Given the description of an element on the screen output the (x, y) to click on. 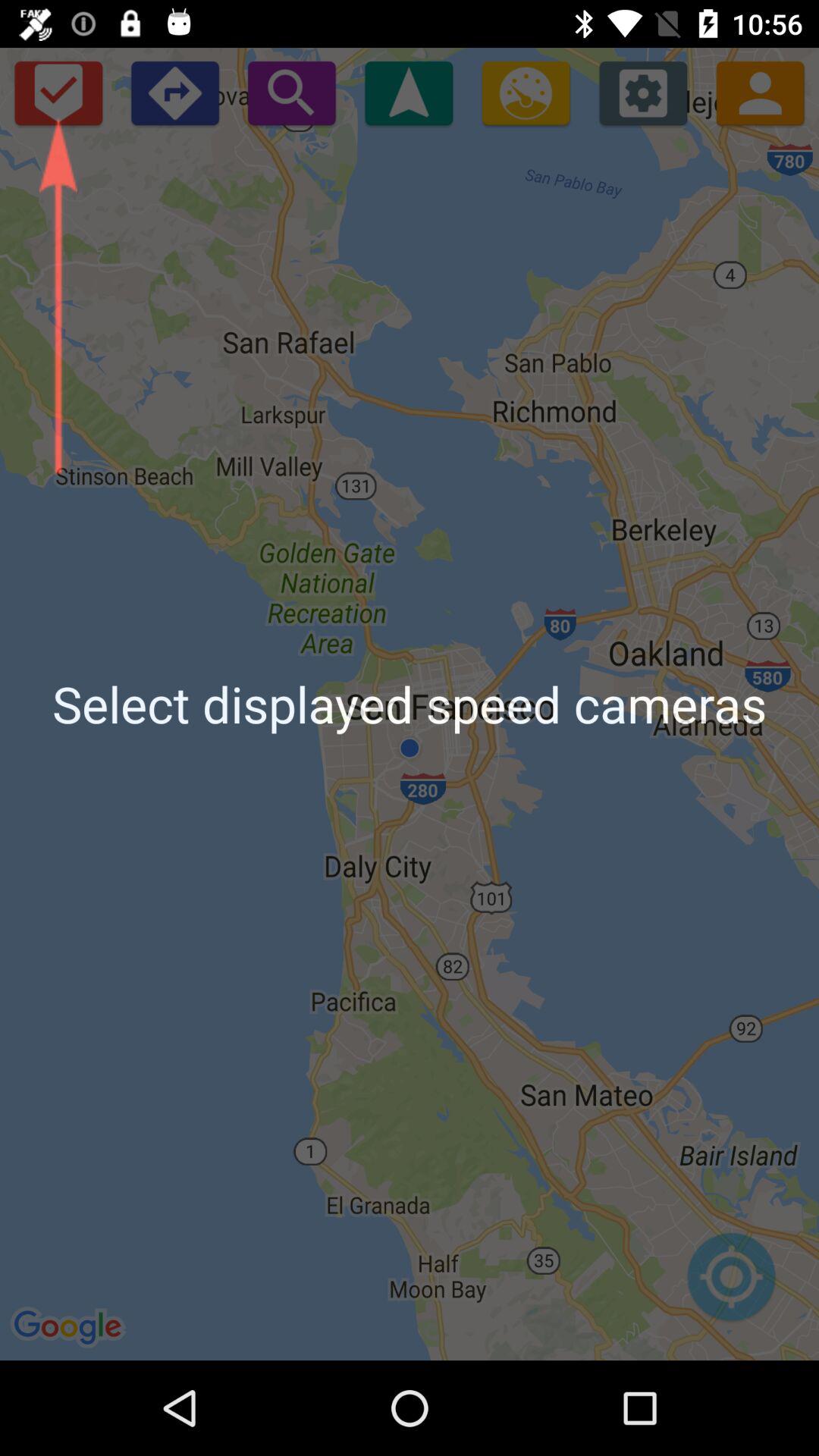
enter (174, 92)
